Given the description of an element on the screen output the (x, y) to click on. 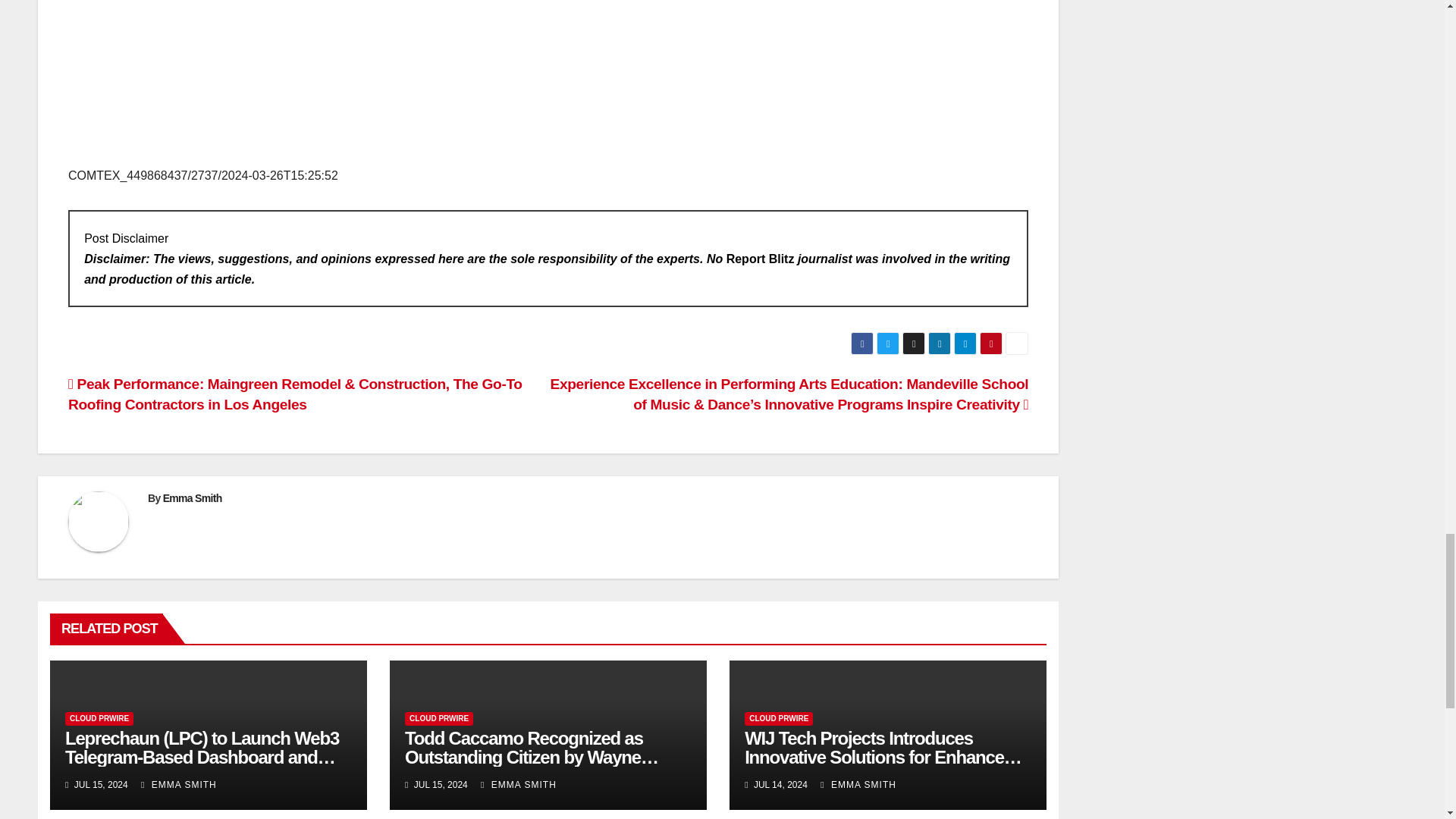
CLOUD PRWIRE (99, 718)
EMMA SMITH (178, 784)
CLOUD PRWIRE (438, 718)
Emma Smith (192, 498)
EMMA SMITH (518, 784)
